Given the description of an element on the screen output the (x, y) to click on. 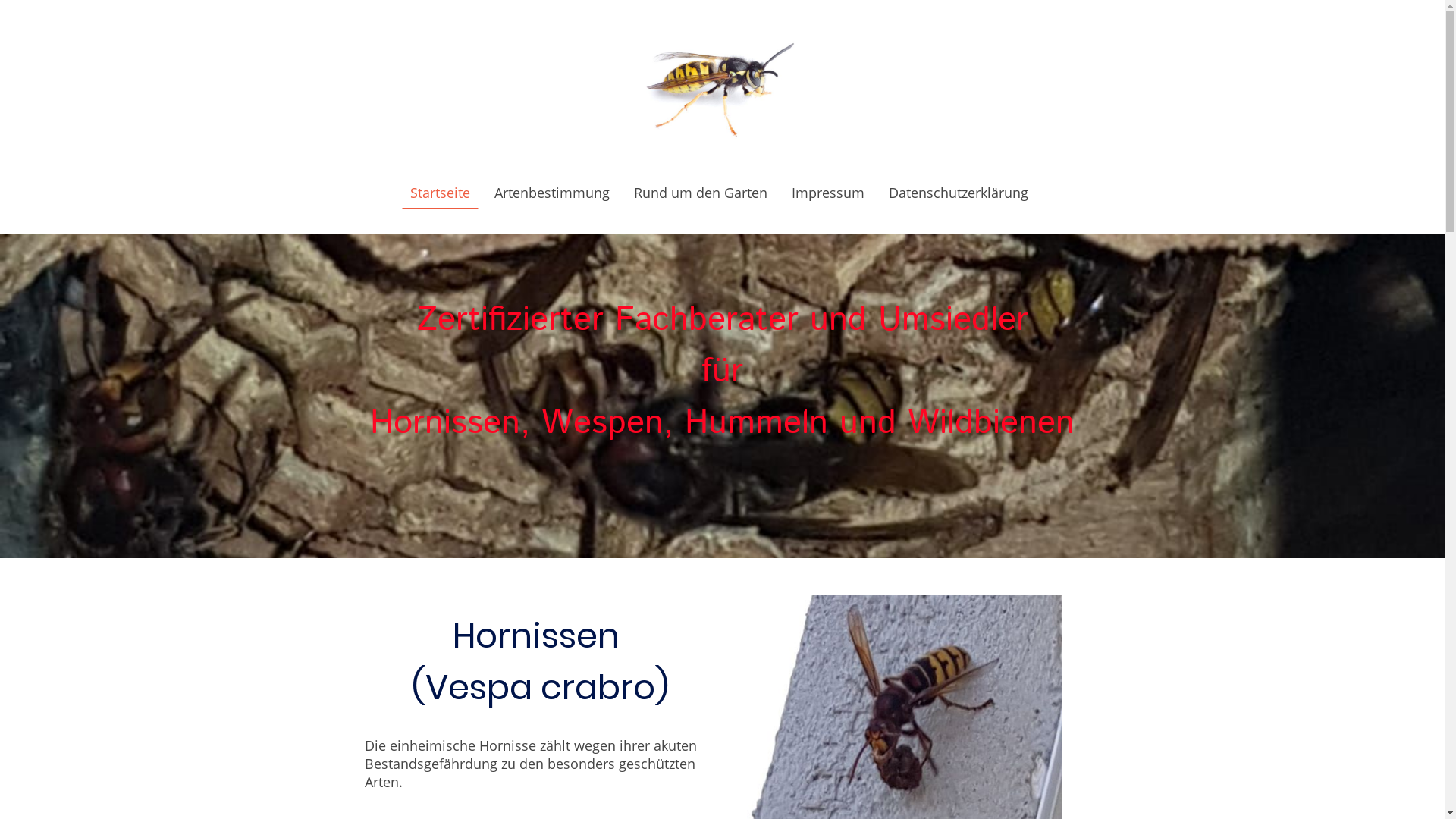
Impressum Element type: text (828, 192)
Rund um den Garten Element type: text (700, 192)
Artenbestimmung Element type: text (551, 192)
Startseite Element type: text (439, 192)
